Given the description of an element on the screen output the (x, y) to click on. 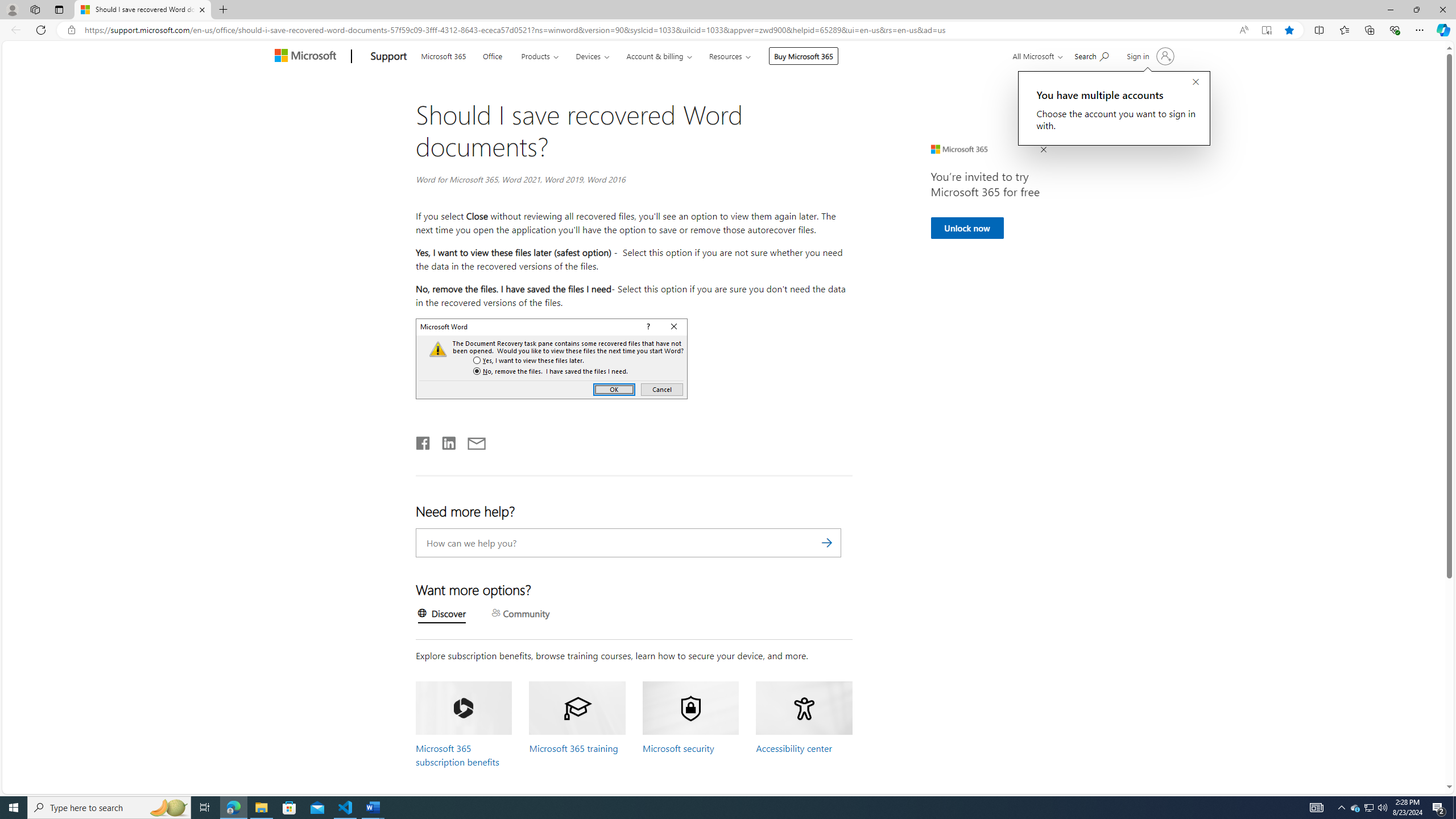
Microsoft 365 (443, 54)
Address and search bar (658, 29)
New Tab (223, 9)
How can we help you? (628, 542)
Refresh (40, 29)
Share on Facebook (423, 441)
Microsoft (306, 56)
Enter Immersive Reader (F9) (1266, 29)
Office (492, 54)
Unlock now (966, 228)
Save document recovery dialog (551, 358)
